Given the description of an element on the screen output the (x, y) to click on. 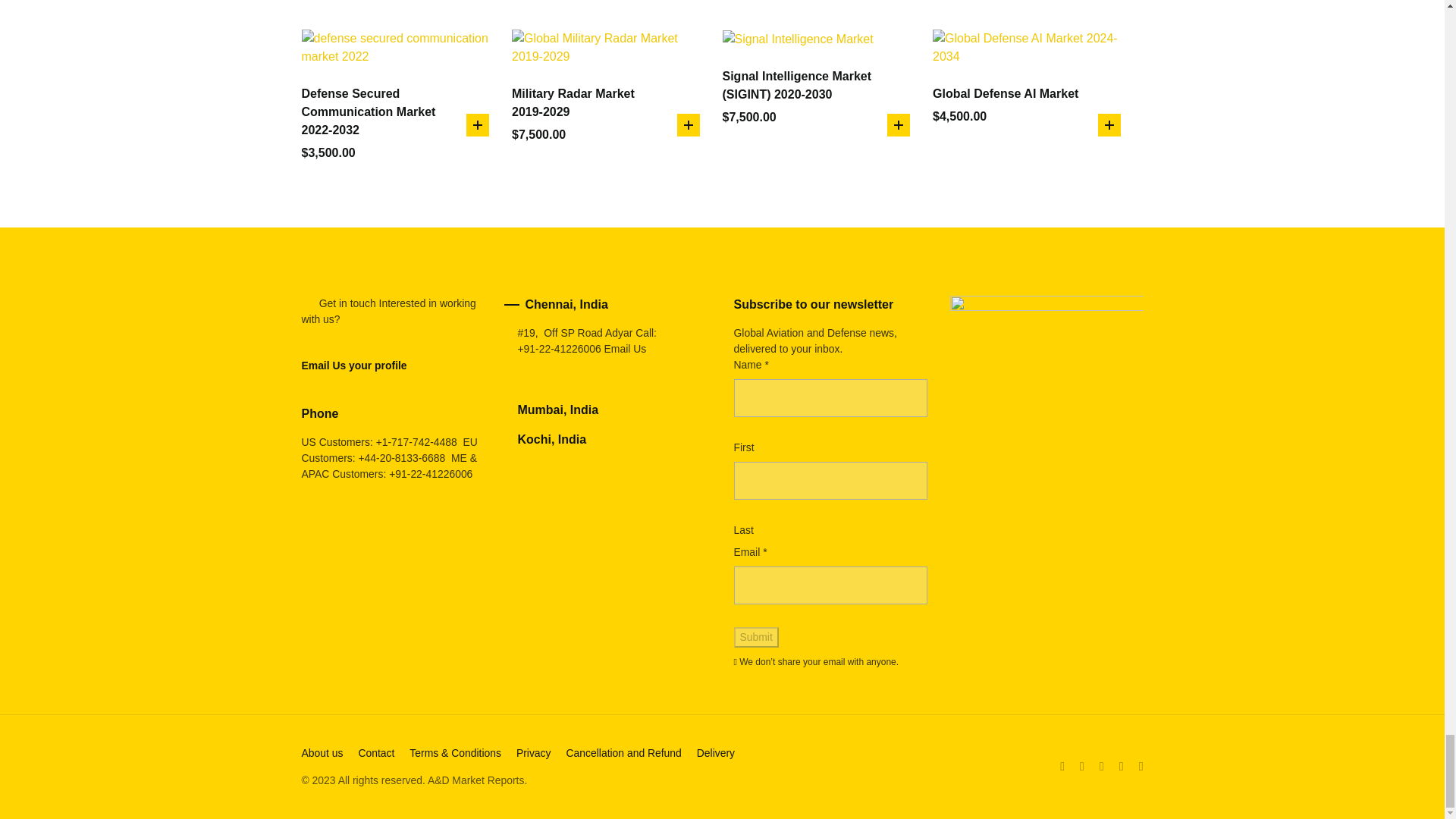
add to cart (687, 124)
add to cart (1109, 124)
add to cart (477, 124)
add to cart (898, 124)
